Given the description of an element on the screen output the (x, y) to click on. 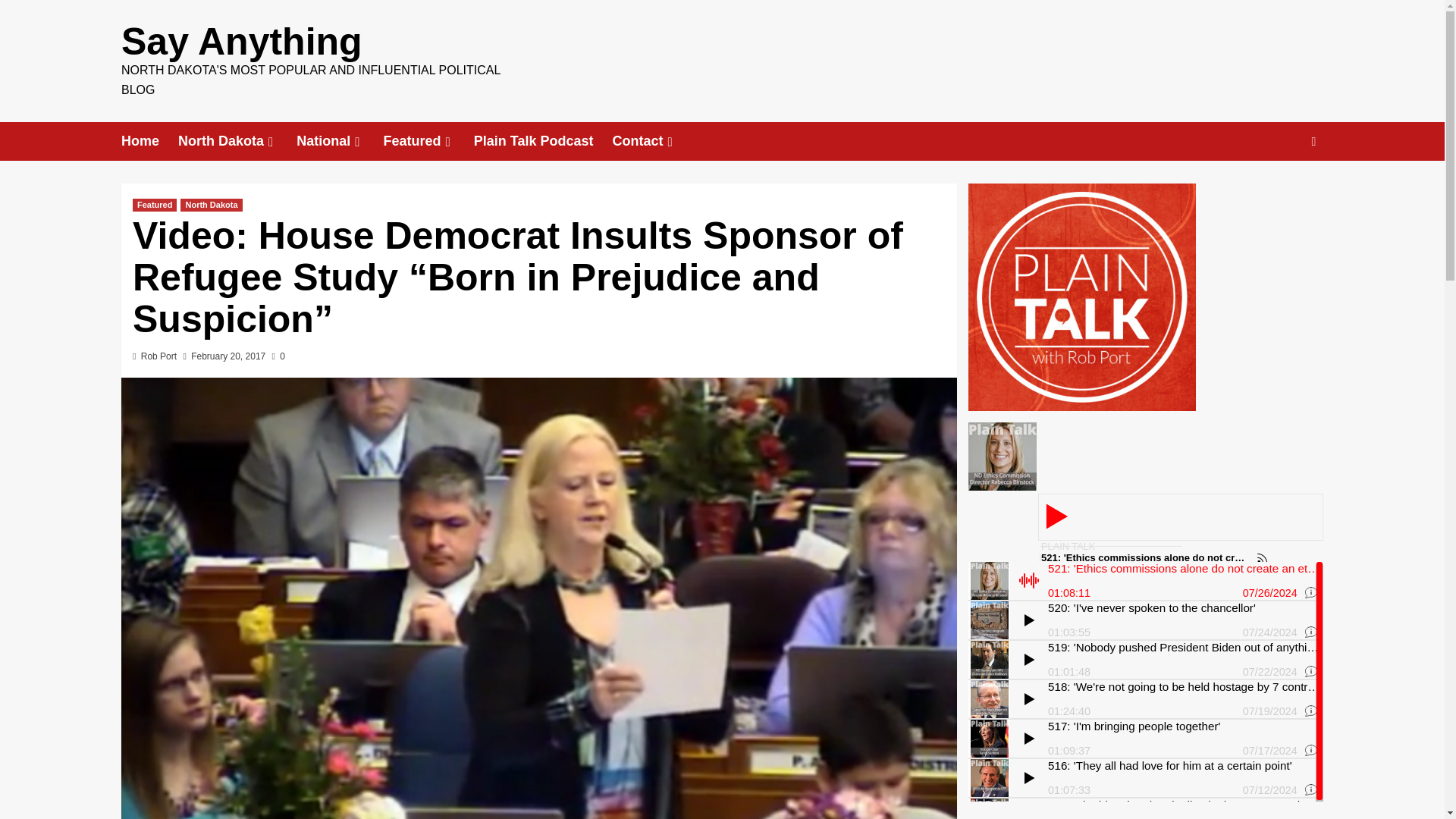
Say Anything (241, 41)
Featured (154, 205)
North Dakota (237, 141)
Search (1278, 188)
Rob Port (158, 356)
Search (1313, 140)
February 20, 2017 (227, 356)
Plain Talk Podcast (543, 141)
National (339, 141)
Home (148, 141)
Contact (653, 141)
0 (278, 356)
North Dakota (210, 205)
Featured (427, 141)
